Given the description of an element on the screen output the (x, y) to click on. 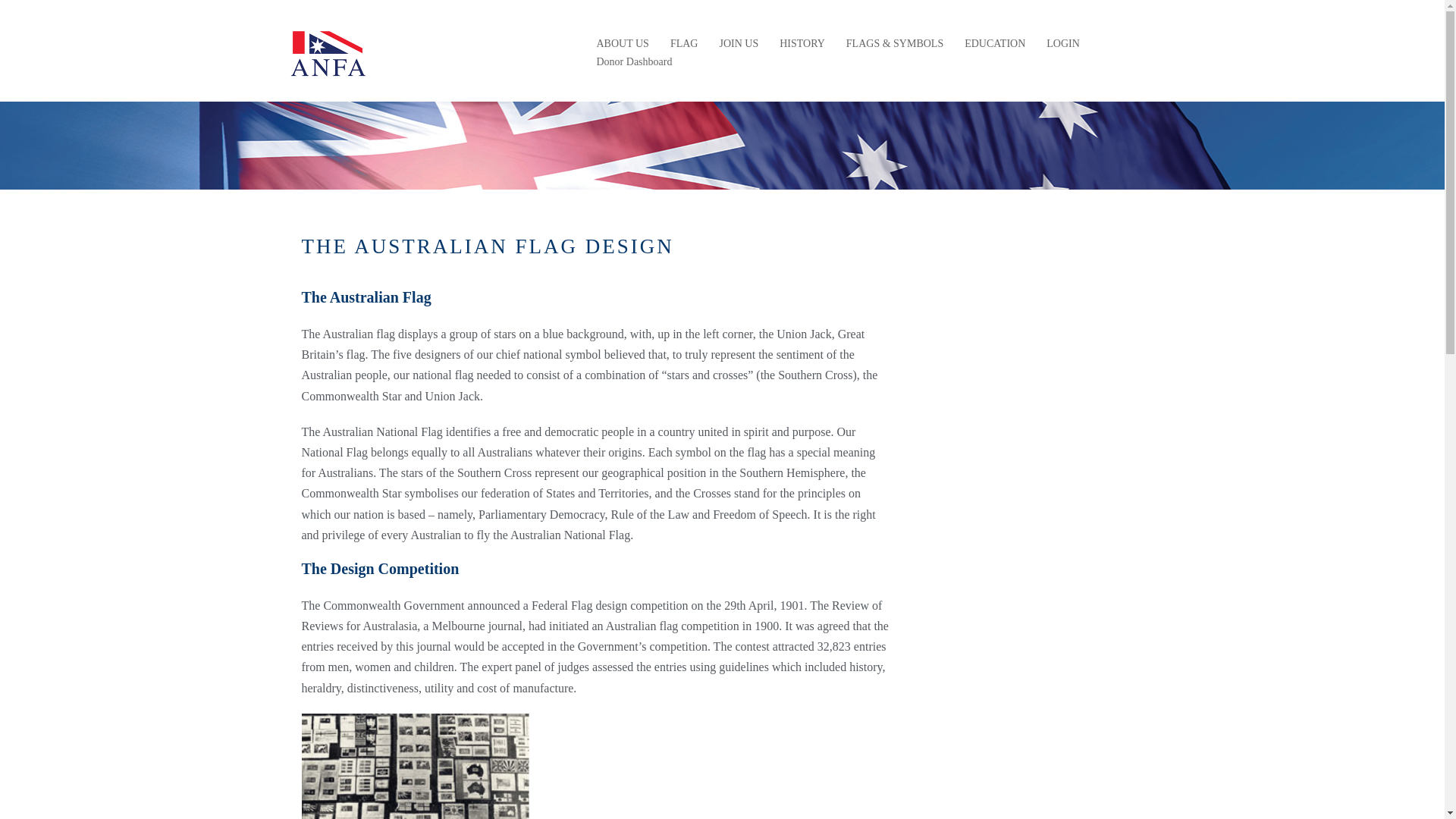
FLAG Element type: text (684, 43)
JOIN US Element type: text (738, 43)
HISTORY Element type: text (802, 43)
Australian National Flag Association (ANFA) Element type: hover (327, 51)
ABOUT US Element type: text (622, 43)
LOGIN Element type: text (1062, 43)
FLAGS & SYMBOLS Element type: text (894, 43)
Donor Dashboard Element type: text (633, 62)
EDUCATION Element type: text (994, 43)
